Given the description of an element on the screen output the (x, y) to click on. 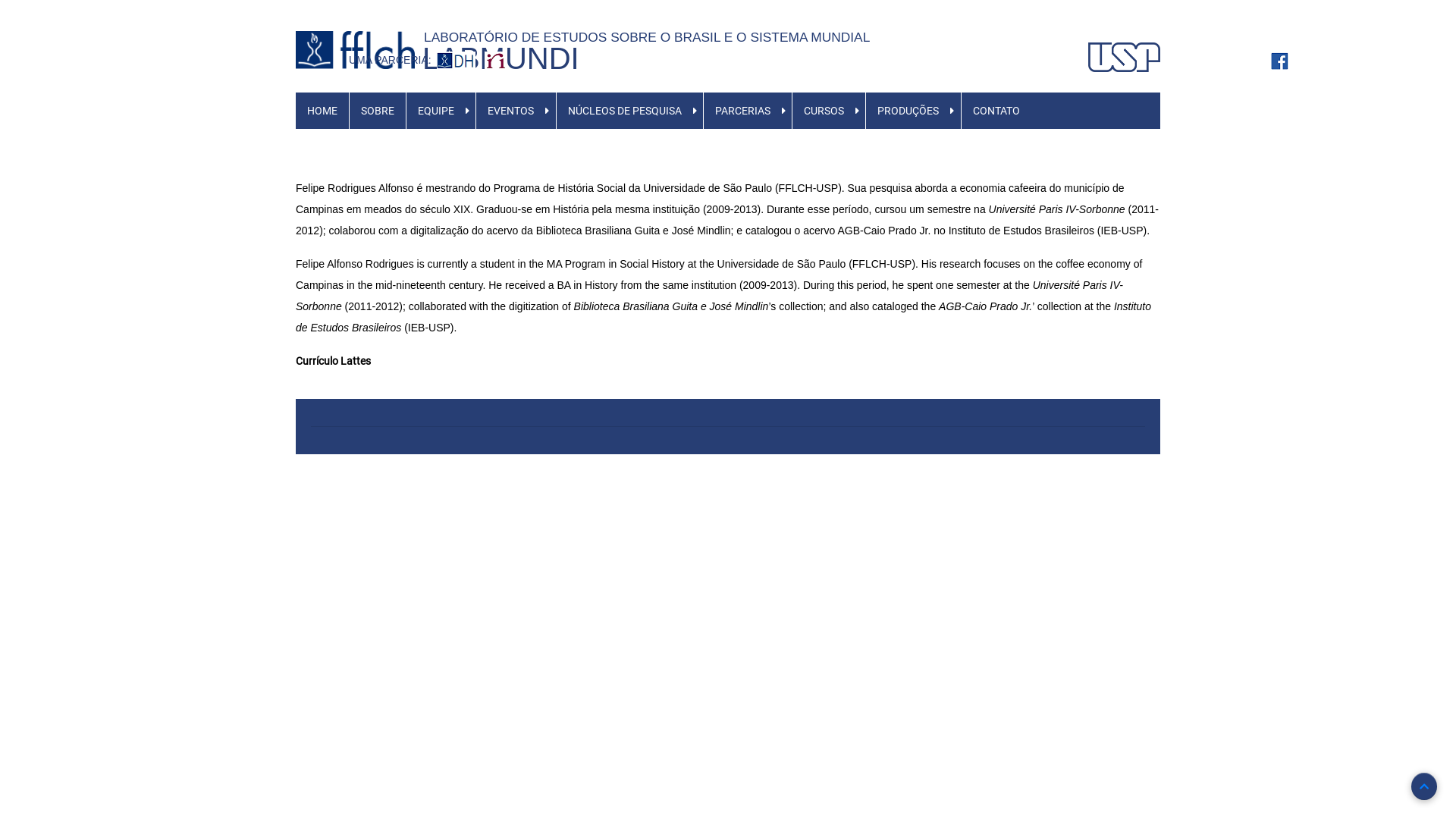
HOME Element type: text (321, 110)
CURSOS Element type: text (823, 110)
Back to Top Element type: hover (1424, 786)
LabMundi no Facebook Element type: hover (1279, 59)
LABMUNDI Element type: text (500, 58)
EQUIPE Element type: text (435, 110)
SOBRE Element type: text (377, 110)
CONTATO Element type: text (996, 110)
PARCERIAS Element type: text (742, 110)
EVENTOS Element type: text (510, 110)
Parceria com o IRI/USP Element type: hover (495, 59)
